Given the description of an element on the screen output the (x, y) to click on. 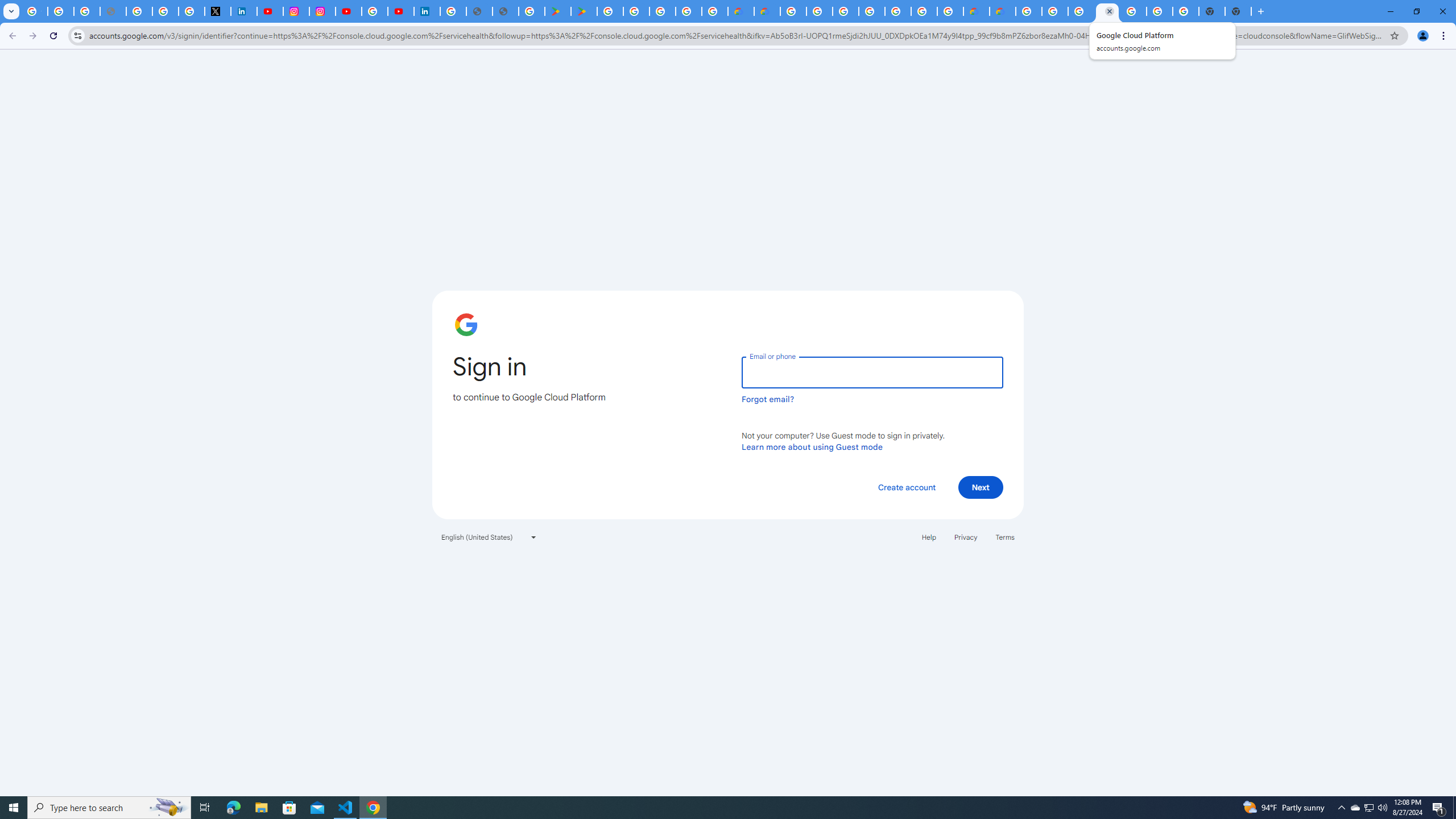
Customer Care | Google Cloud (976, 11)
Google Workspace - Specific Terms (689, 11)
English (United States) (489, 536)
LinkedIn Privacy Policy (243, 11)
PAW Patrol Rescue World - Apps on Google Play (584, 11)
